Given the description of an element on the screen output the (x, y) to click on. 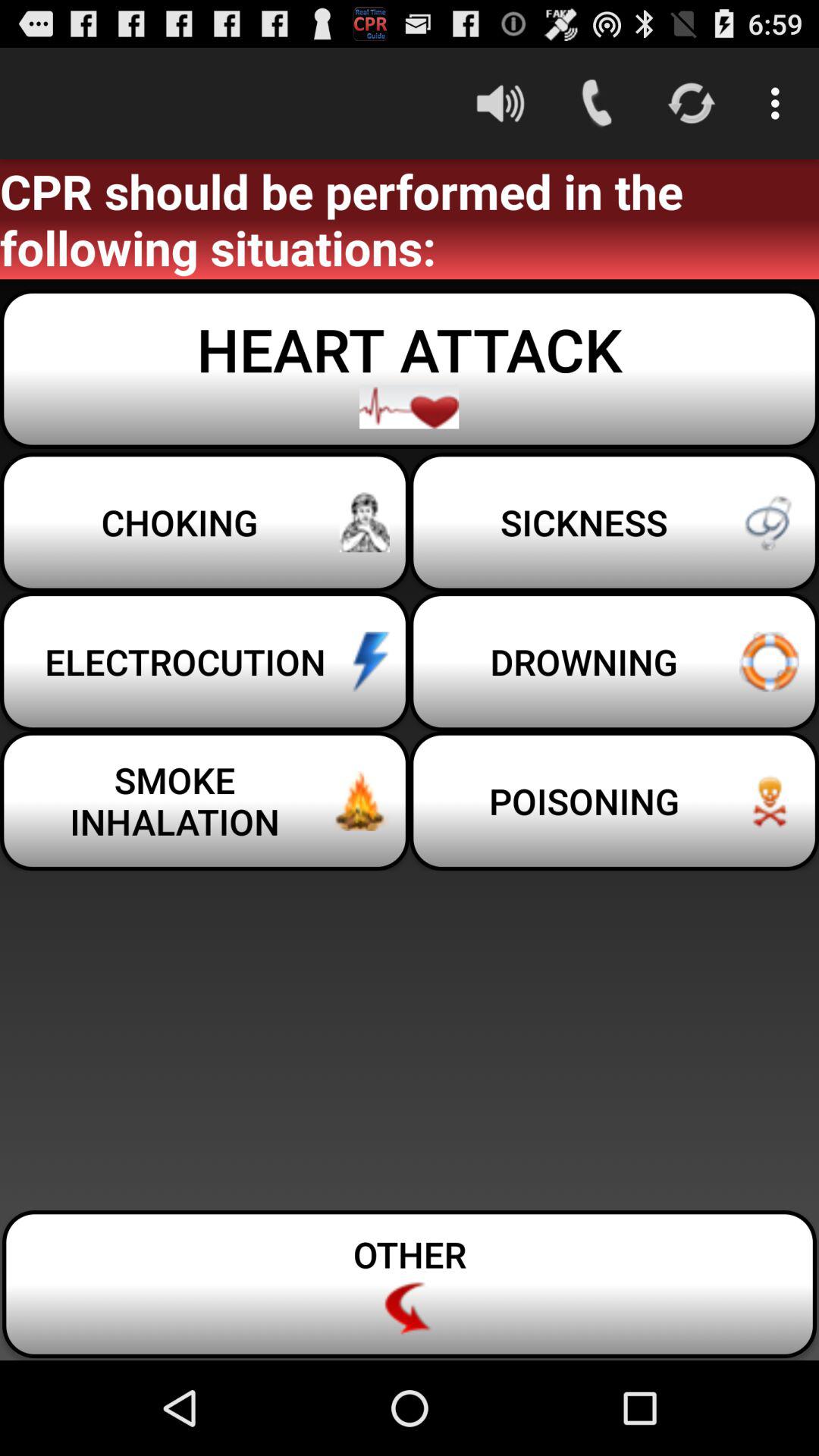
launch the item above other (204, 800)
